Given the description of an element on the screen output the (x, y) to click on. 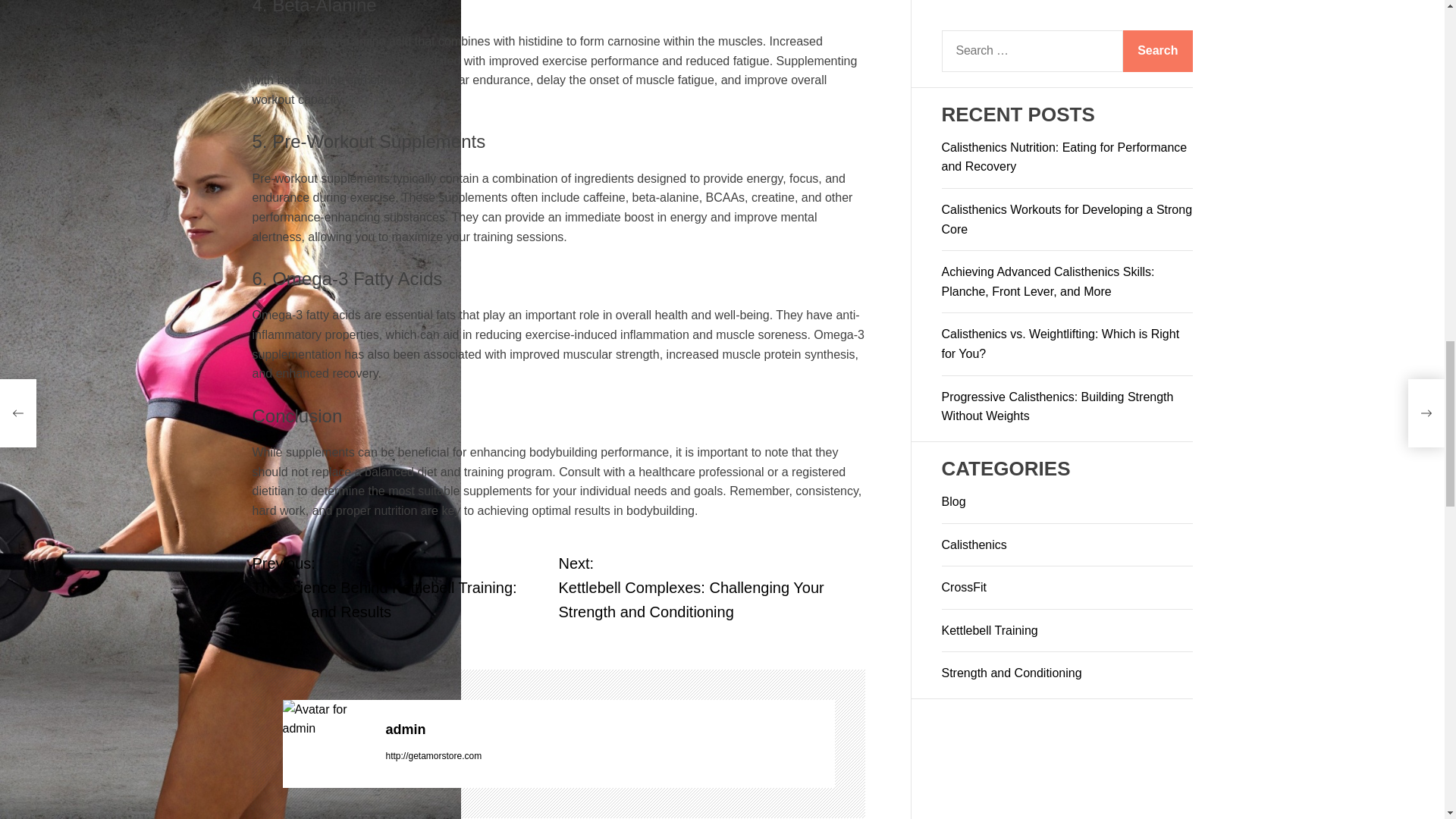
admin (325, 719)
admin (609, 730)
admin (609, 730)
